Given the description of an element on the screen output the (x, y) to click on. 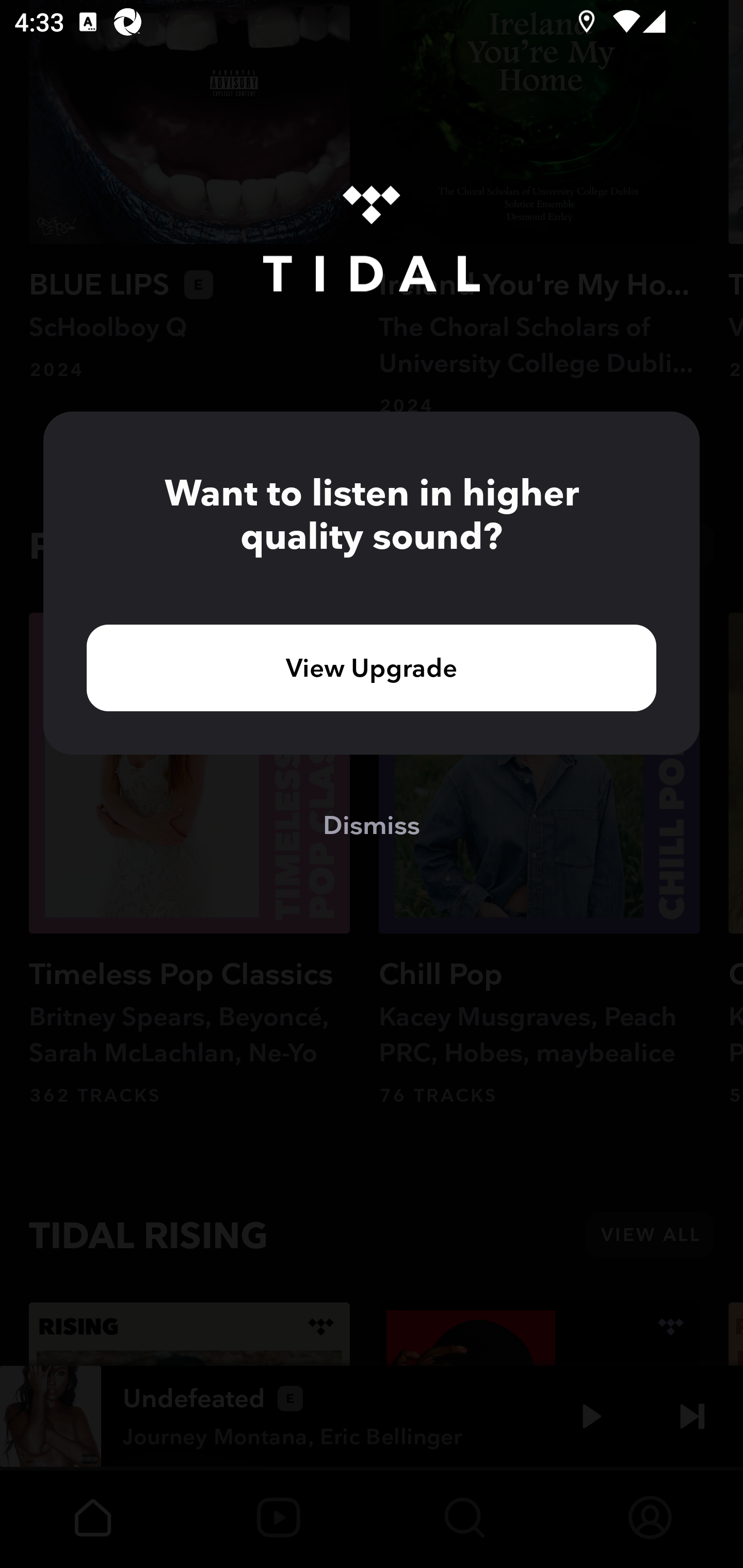
View Upgrade (371, 667)
Dismiss (371, 824)
